Given the description of an element on the screen output the (x, y) to click on. 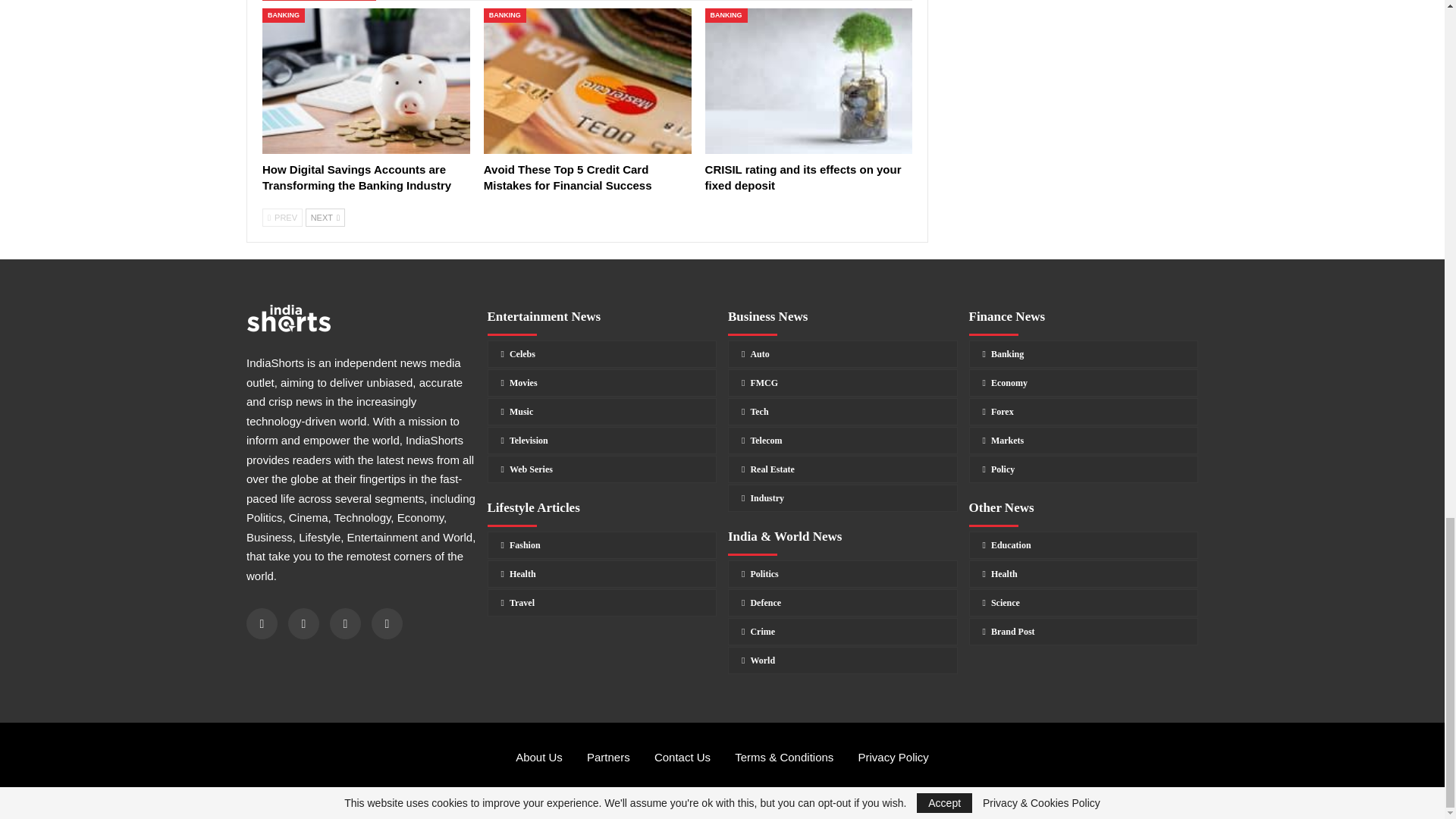
CRISIL rating and its effects on your fixed deposit (802, 176)
Avoid These Top 5 Credit Card Mistakes for Financial Success (567, 176)
Avoid These Top 5 Credit Card Mistakes for Financial Success (587, 80)
Previous (282, 217)
CRISIL rating and its effects on your fixed deposit (808, 80)
Next (325, 217)
